Given the description of an element on the screen output the (x, y) to click on. 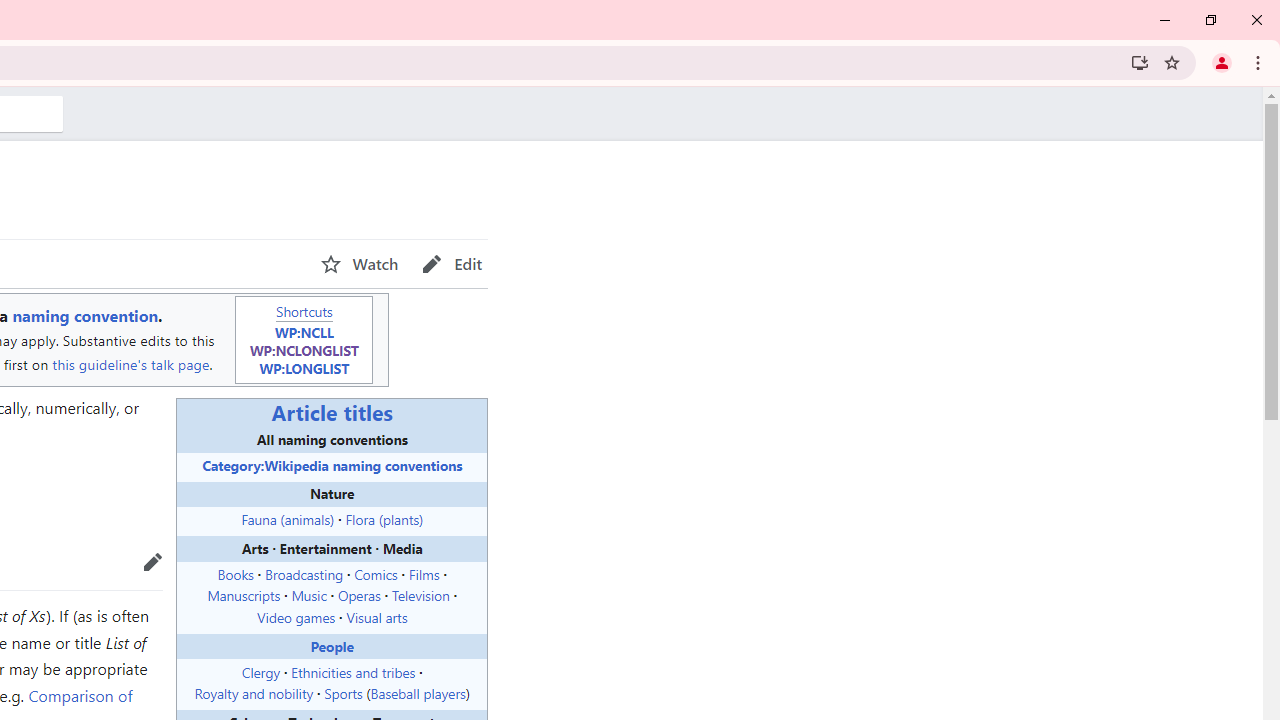
Watch (359, 264)
Films (424, 573)
Comics (376, 573)
Broadcasting (303, 573)
WP:LONGLIST (303, 367)
AutomationID: page-actions-watch (359, 263)
Royalty and nobility (253, 693)
Visual arts (376, 617)
this guideline's talk page (130, 364)
Music (308, 595)
Fauna (animals) (287, 519)
Manuscripts (244, 595)
